Given the description of an element on the screen output the (x, y) to click on. 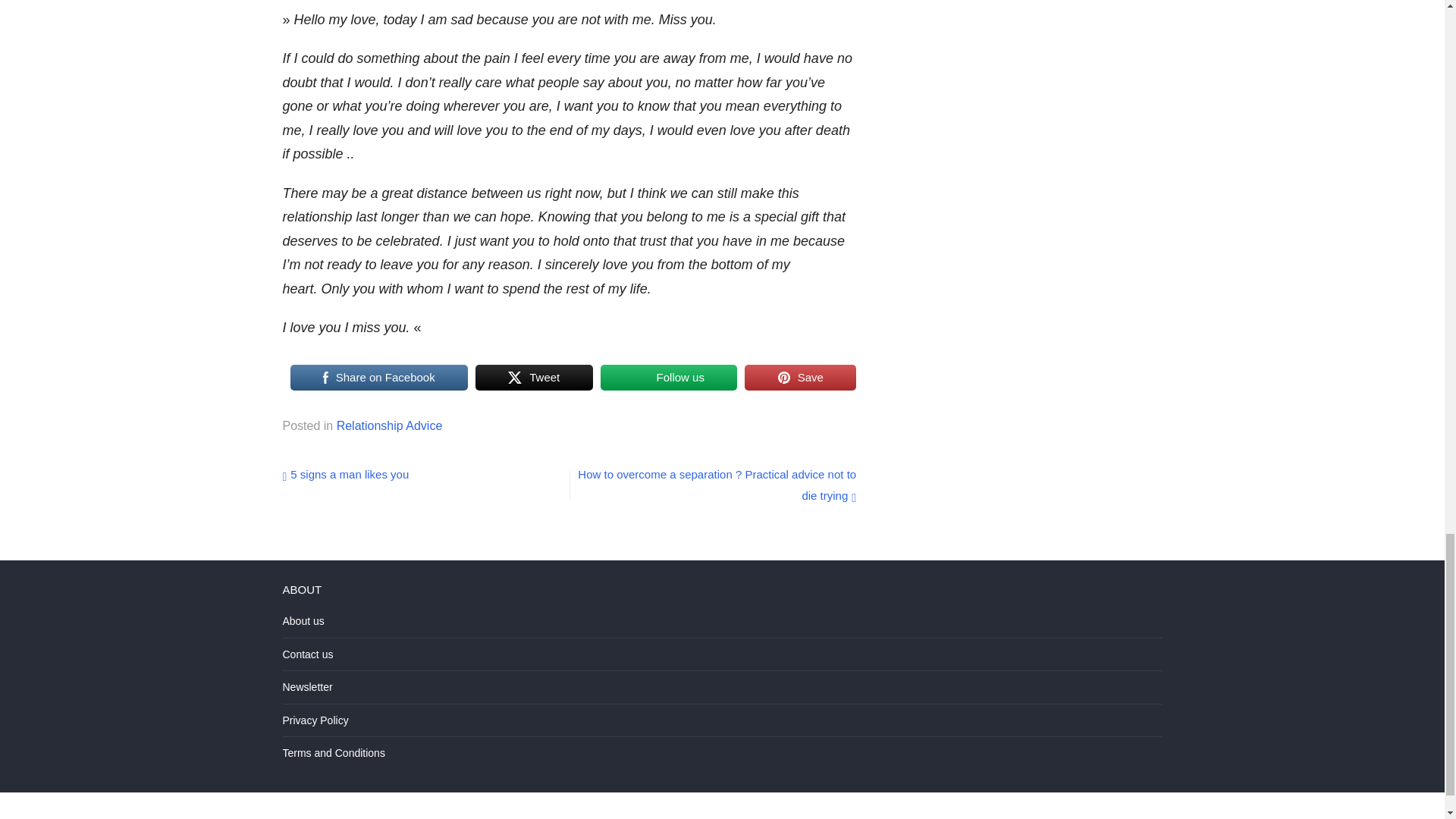
Tweet (534, 376)
Contact us (307, 654)
Share on Facebook (378, 376)
Save (800, 376)
5 signs a man likes you (345, 472)
Terms and Conditions (333, 752)
Relationship Advice (389, 424)
Follow us (668, 376)
About us (302, 621)
Privacy Policy (314, 720)
Newsletter (306, 686)
